Given the description of an element on the screen output the (x, y) to click on. 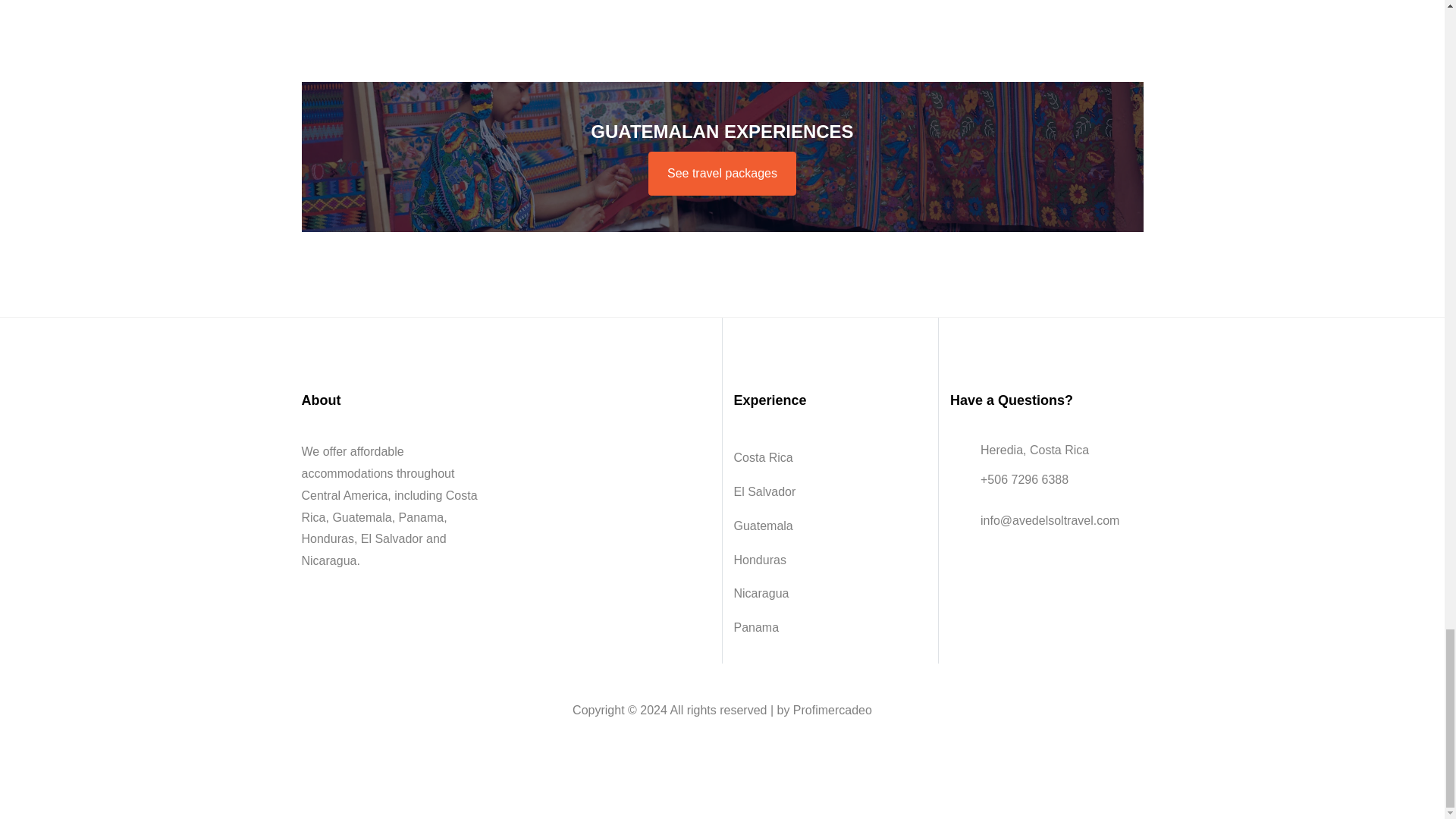
El Salvador (830, 492)
Costa Rica (830, 458)
Guatemala (830, 526)
Panama (830, 627)
Honduras (830, 560)
See travel packages (721, 173)
Nicaragua (830, 593)
Profimercadeo (832, 709)
